Given the description of an element on the screen output the (x, y) to click on. 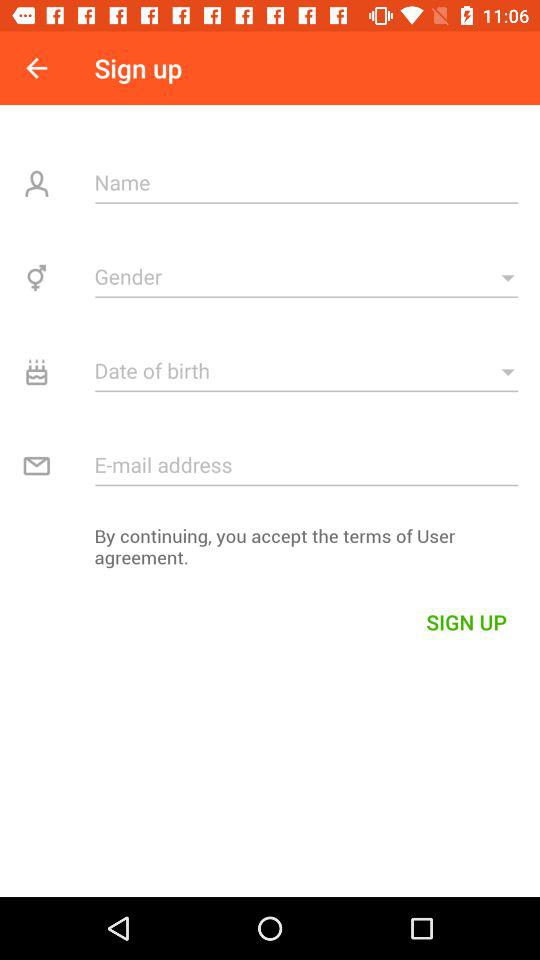
enter email address (306, 464)
